Given the description of an element on the screen output the (x, y) to click on. 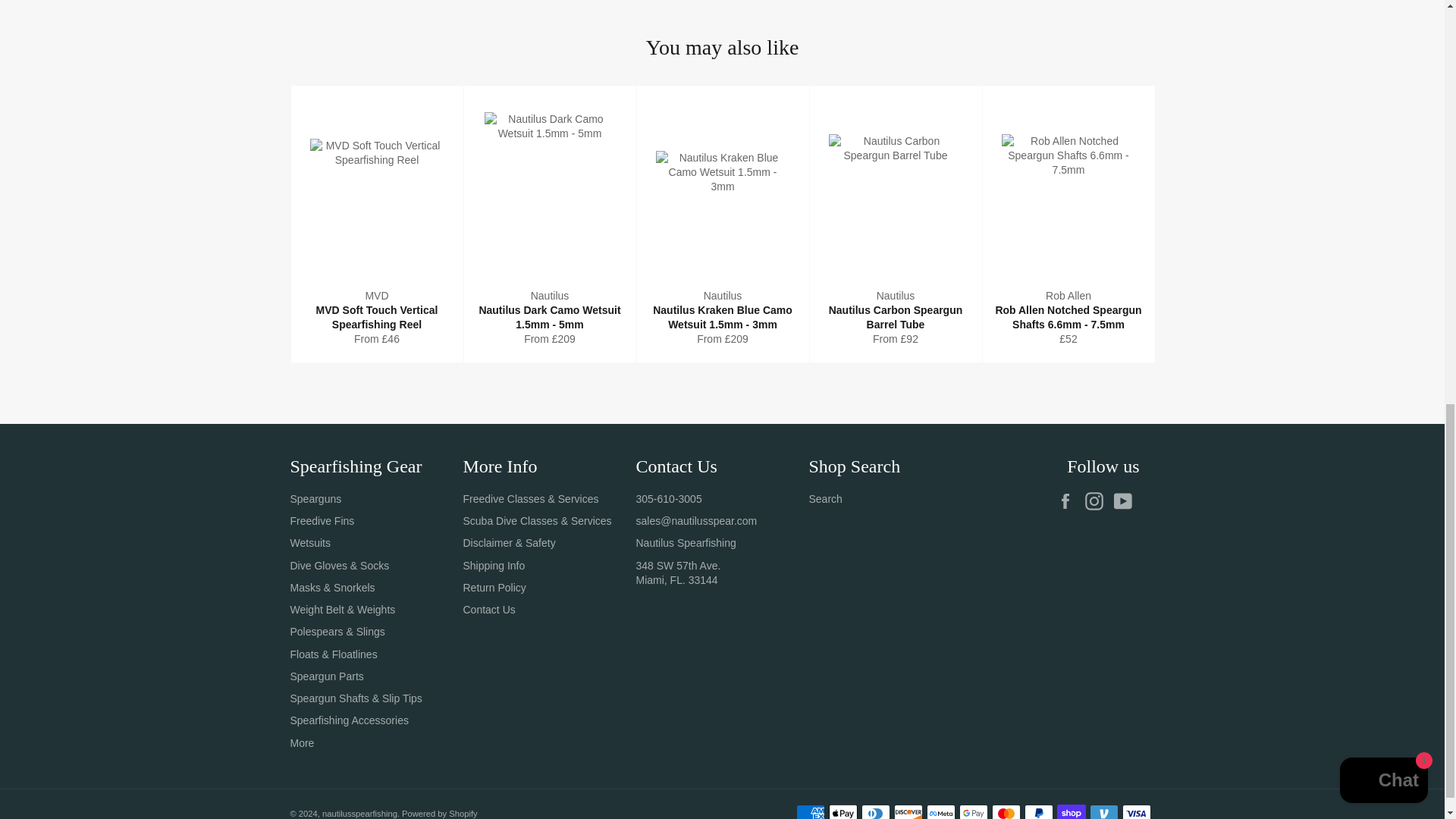
nautilusspearfishing on Facebook (1069, 501)
nautilusspearfishing on YouTube (1125, 501)
nautilusspearfishing on Instagram (1097, 501)
